Given the description of an element on the screen output the (x, y) to click on. 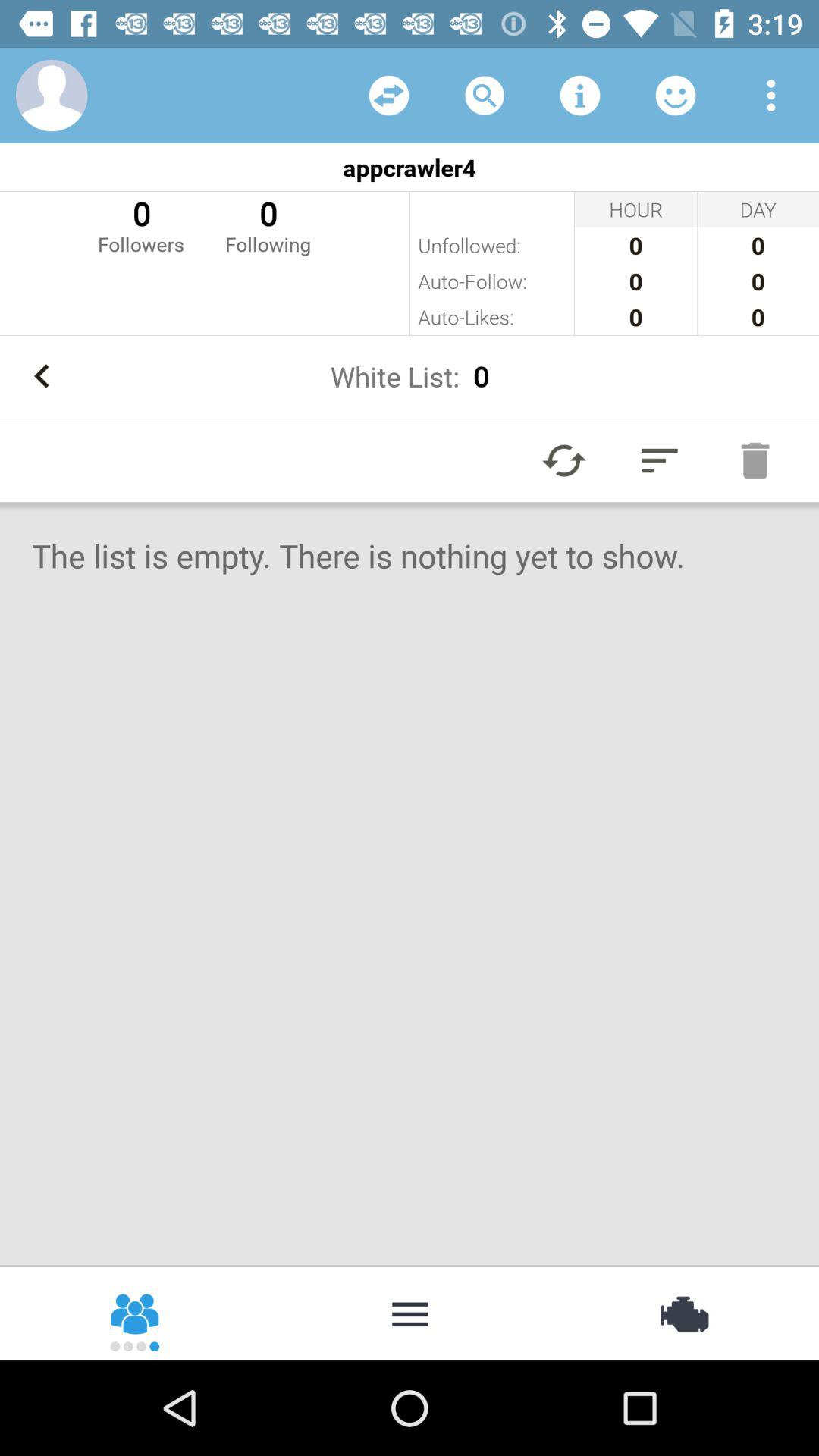
jump until the 0
following (268, 224)
